Given the description of an element on the screen output the (x, y) to click on. 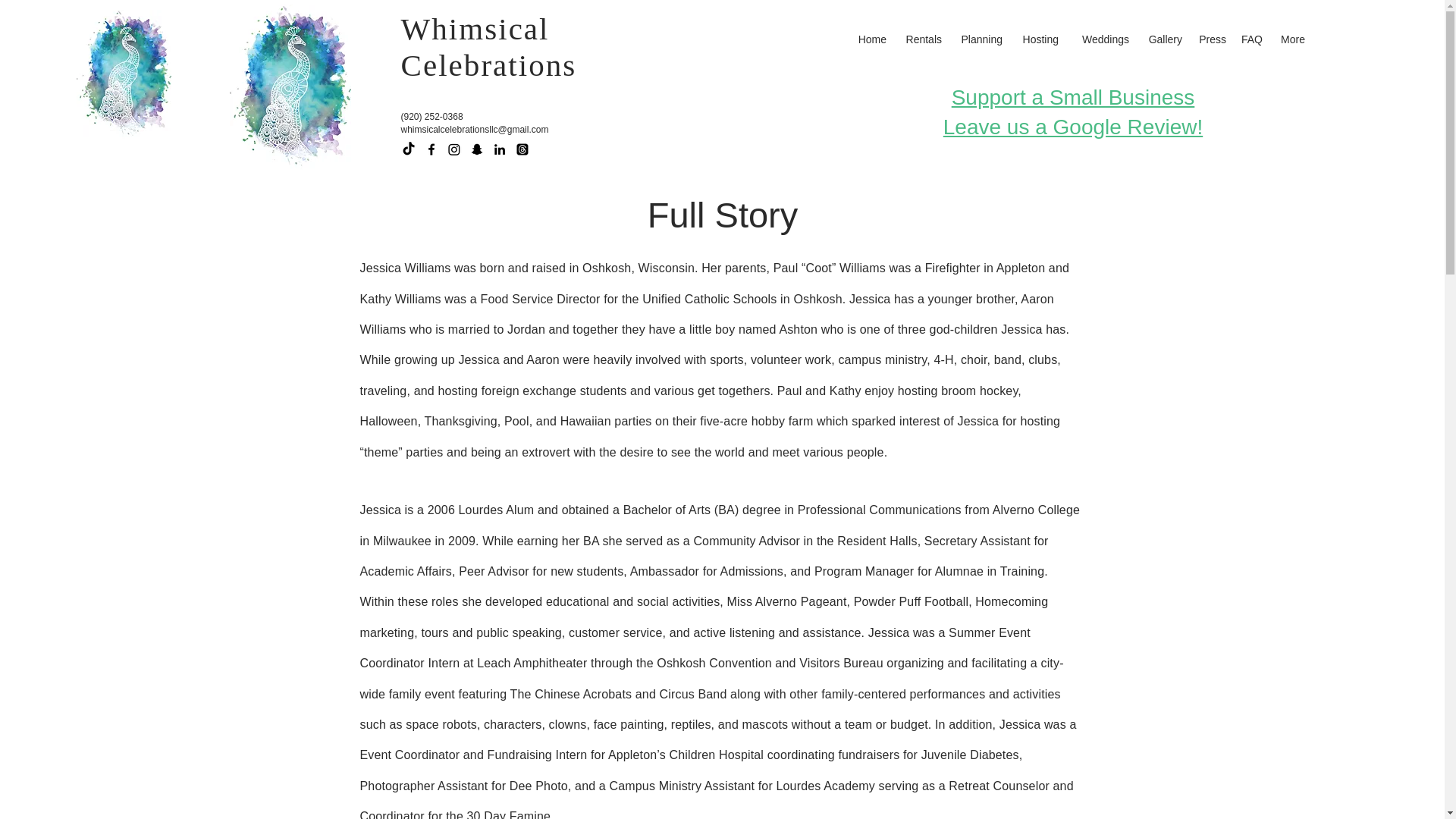
FAQ (1251, 38)
Rentals (921, 38)
Home (869, 38)
Gallery (1163, 38)
Planning (979, 38)
Press (1211, 38)
Hosting (1072, 111)
Weddings (1037, 38)
